Given the description of an element on the screen output the (x, y) to click on. 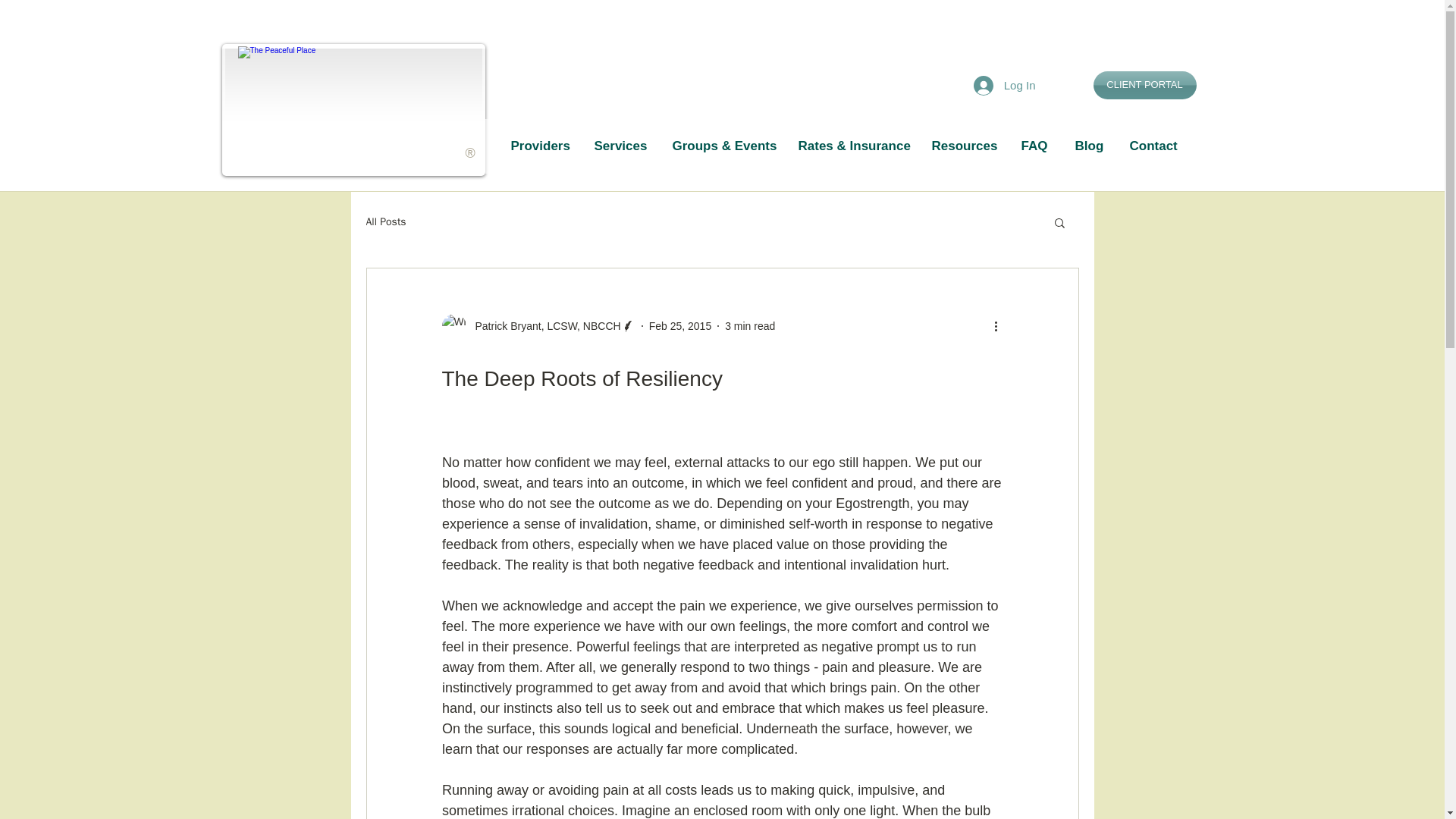
CLIENT PORTAL (1144, 85)
Blog (1090, 145)
3 min read (749, 326)
FAQ (1035, 145)
Feb 25, 2015 (680, 326)
Patrick Bryant, LCSW, NBCCH (537, 325)
Log In (1004, 85)
Providers (539, 145)
All Posts (385, 222)
Patrick Bryant, LCSW, NBCCH (542, 326)
Contact (1153, 145)
Resources (963, 145)
